Given the description of an element on the screen output the (x, y) to click on. 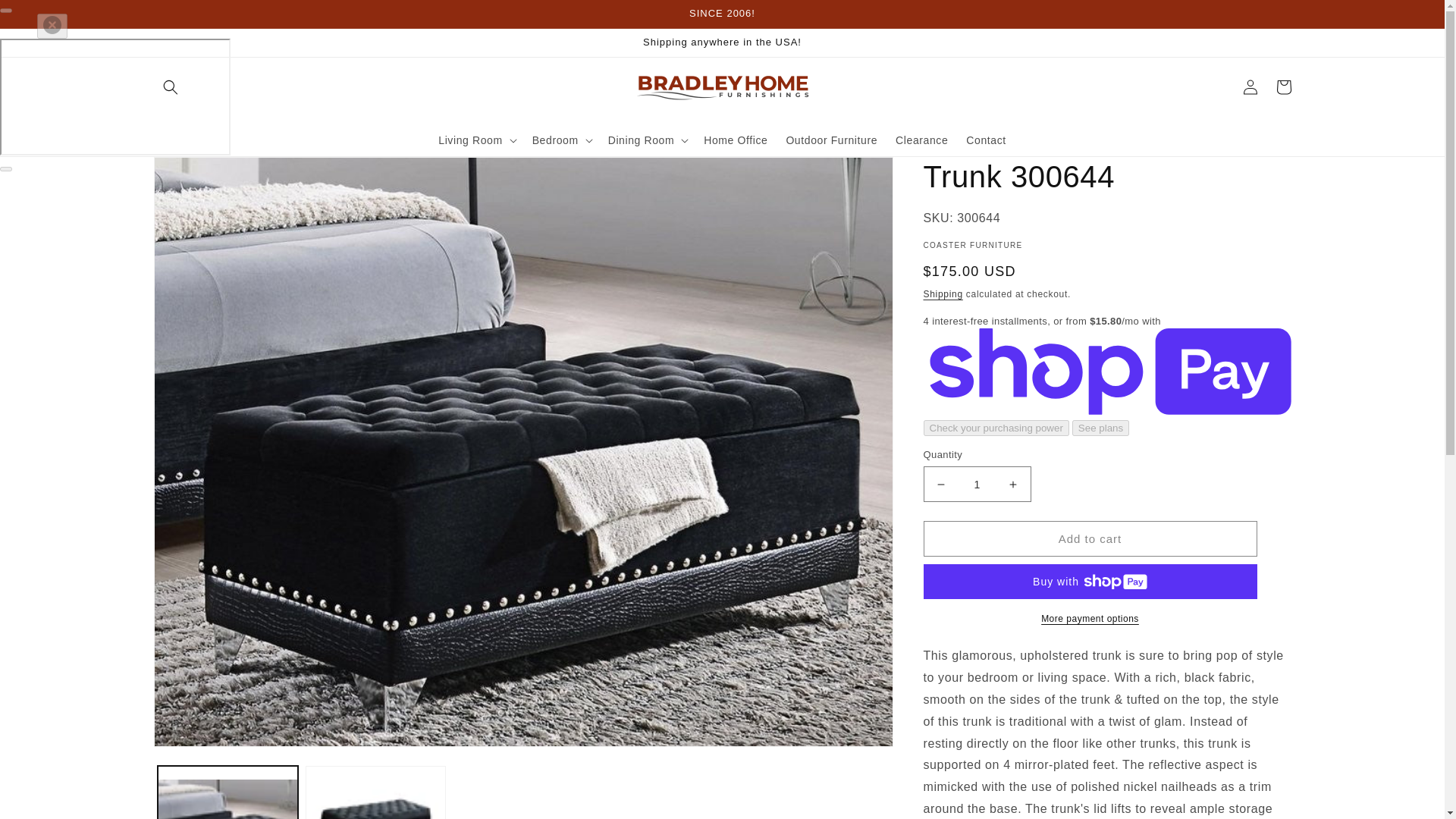
1 (976, 484)
Skip to content (45, 17)
